Given the description of an element on the screen output the (x, y) to click on. 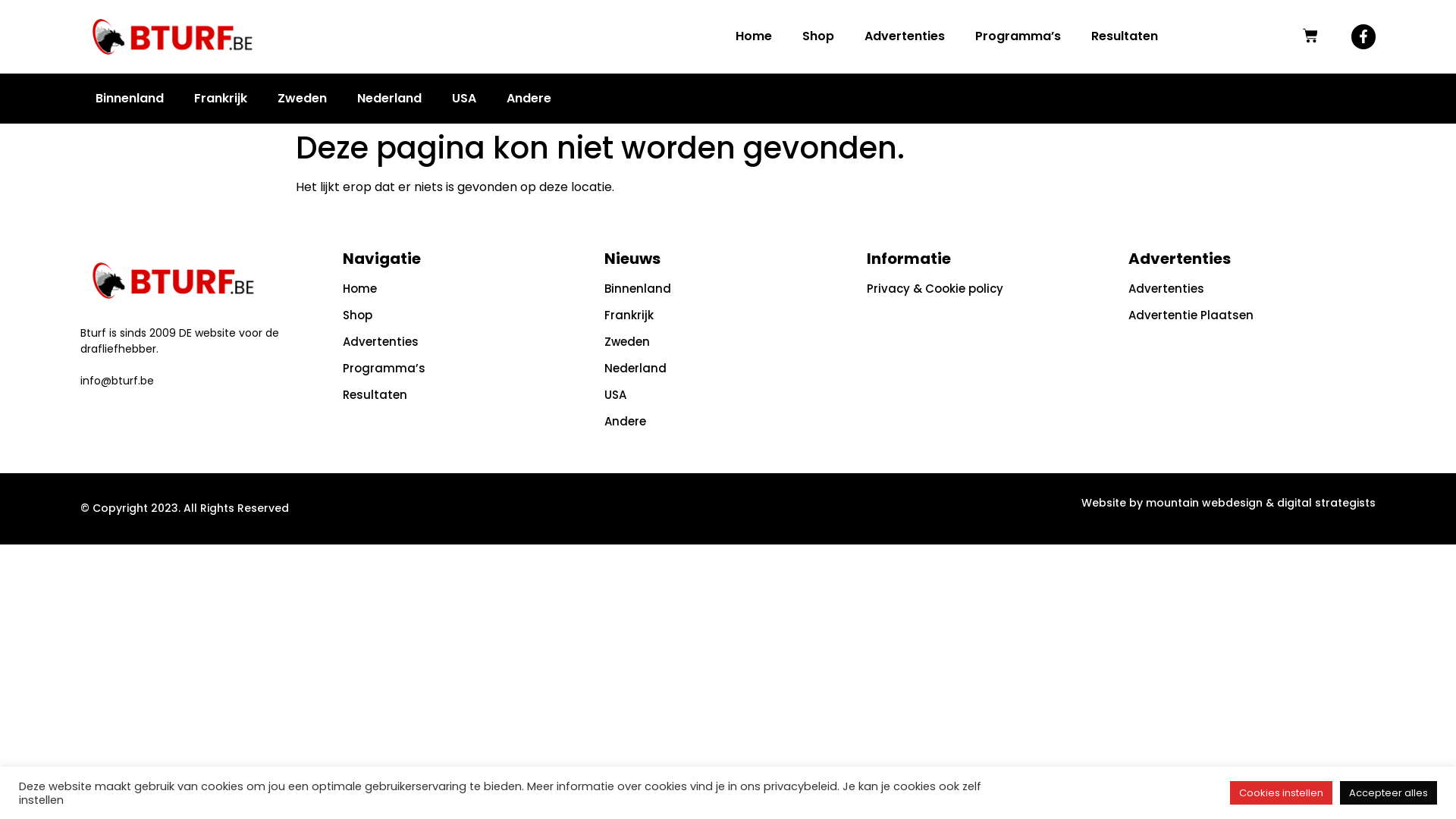
USA Element type: text (727, 394)
Zweden Element type: text (302, 98)
Frankrijk Element type: text (727, 315)
Accepteer alles Element type: text (1388, 792)
Nederland Element type: text (389, 98)
Resultaten Element type: text (465, 394)
Binnenland Element type: text (727, 288)
Advertenties Element type: text (904, 35)
Frankrijk Element type: text (220, 98)
Shop Element type: text (818, 35)
Home Element type: text (753, 35)
Resultaten Element type: text (1124, 35)
USA Element type: text (463, 98)
Advertenties Element type: text (465, 341)
Privacy & Cookie policy Element type: text (989, 288)
Zweden Element type: text (727, 341)
Cookies instellen Element type: text (1281, 792)
mountain webdesign & digital strategists Element type: text (1260, 502)
Advertentie Plaatsen Element type: text (1251, 315)
Andere Element type: text (727, 421)
Shop Element type: text (465, 315)
Advertenties Element type: text (1251, 288)
Home Element type: text (465, 288)
Binnenland Element type: text (129, 98)
Andere Element type: text (528, 98)
info@bturf.be Element type: text (116, 380)
Nederland Element type: text (727, 368)
